Given the description of an element on the screen output the (x, y) to click on. 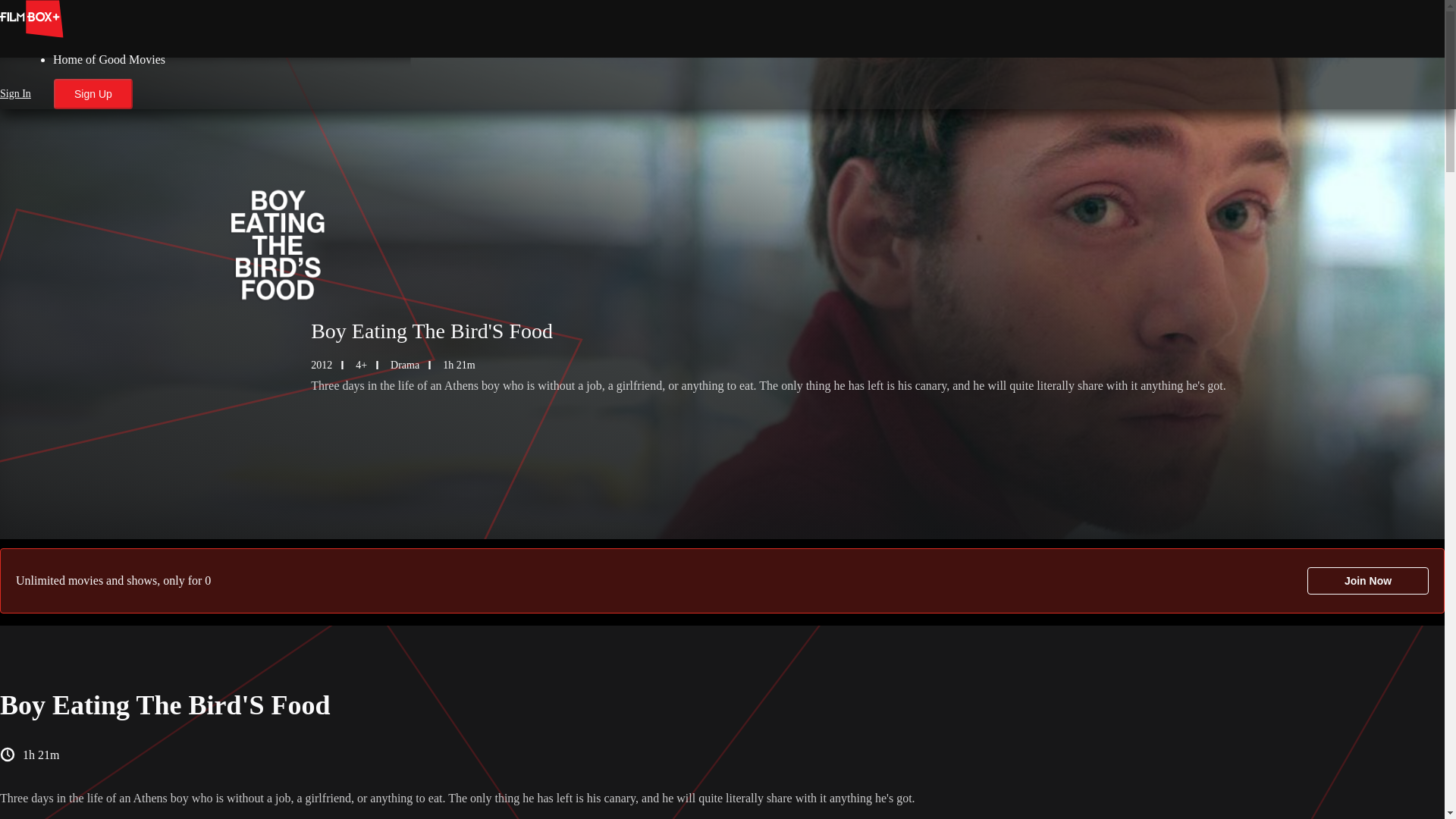
Join Now (1367, 580)
Sign Up (92, 93)
Sign In (15, 93)
